Given the description of an element on the screen output the (x, y) to click on. 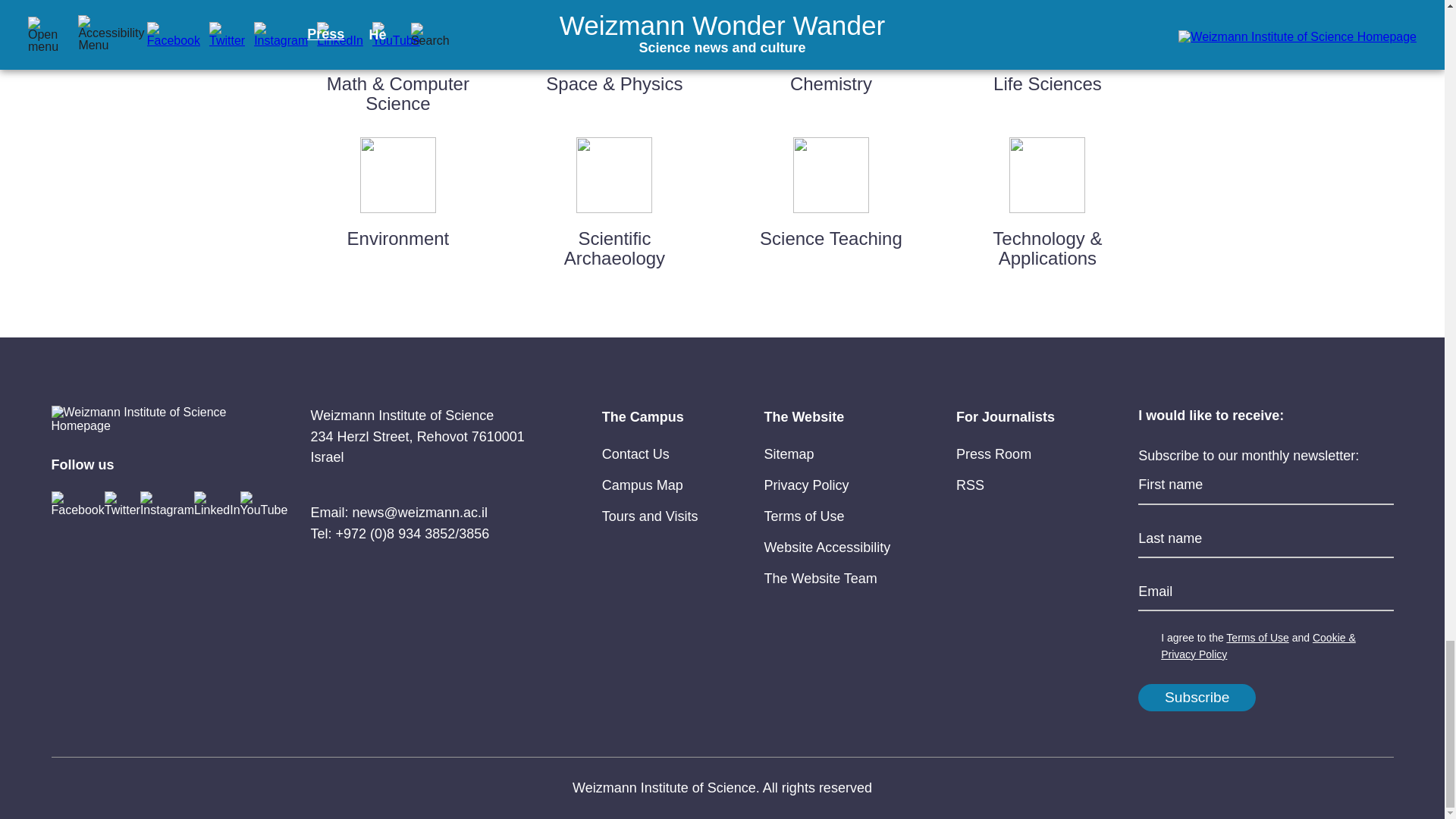
Subscribe (1196, 697)
opens in a new window (805, 485)
opens in a new window (803, 516)
opens in a new window (635, 453)
1 (1147, 638)
Weizmann Institute of Science Homepage (141, 419)
opens in a new window (642, 485)
